Given the description of an element on the screen output the (x, y) to click on. 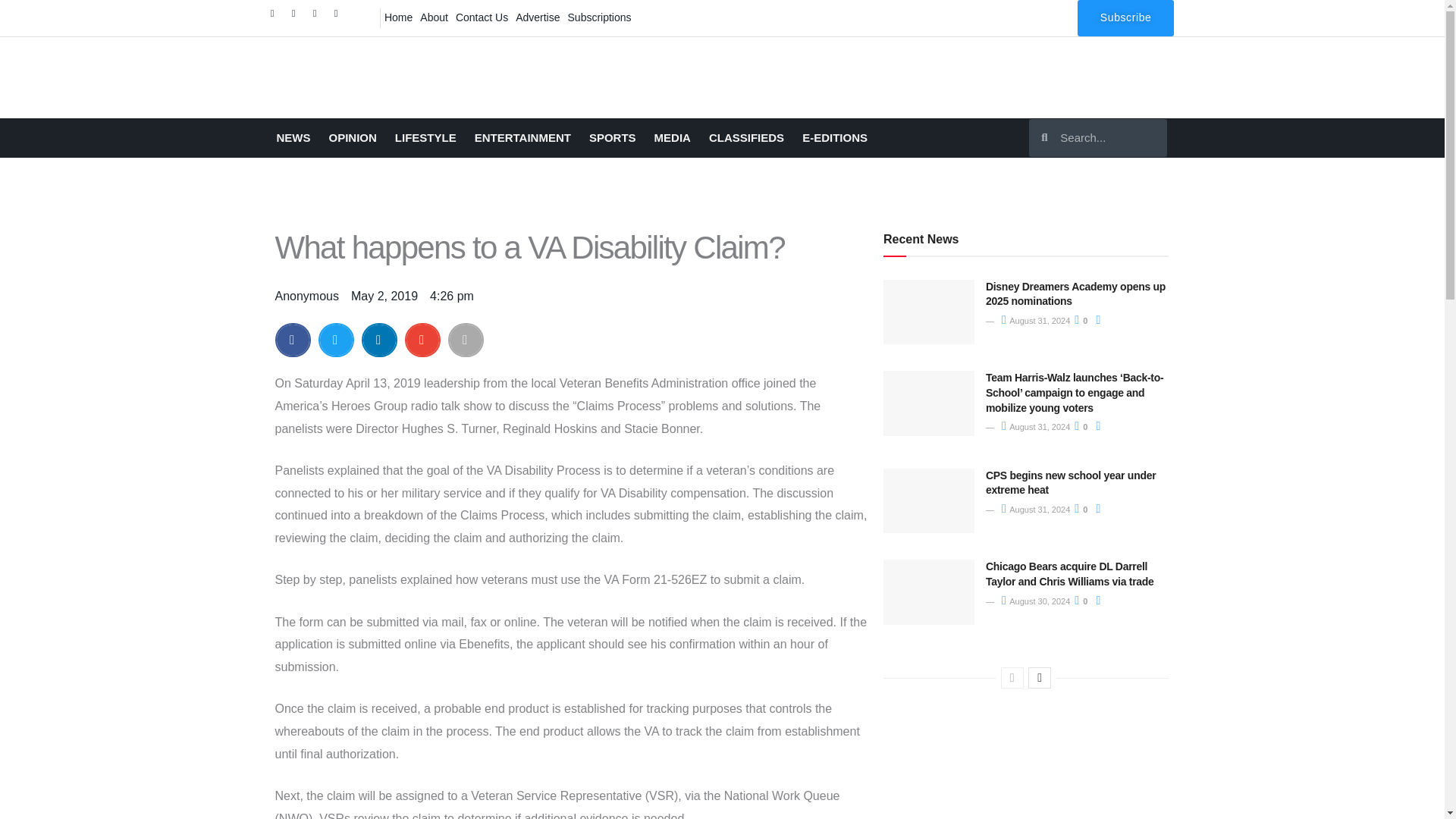
Instagram (318, 17)
Subscribe (1125, 18)
Advertise (537, 17)
Facebook-f (276, 17)
Twitter (297, 17)
Home (398, 17)
LIFESTYLE (425, 137)
Next (1039, 677)
About (433, 17)
Youtube (340, 17)
